Given the description of an element on the screen output the (x, y) to click on. 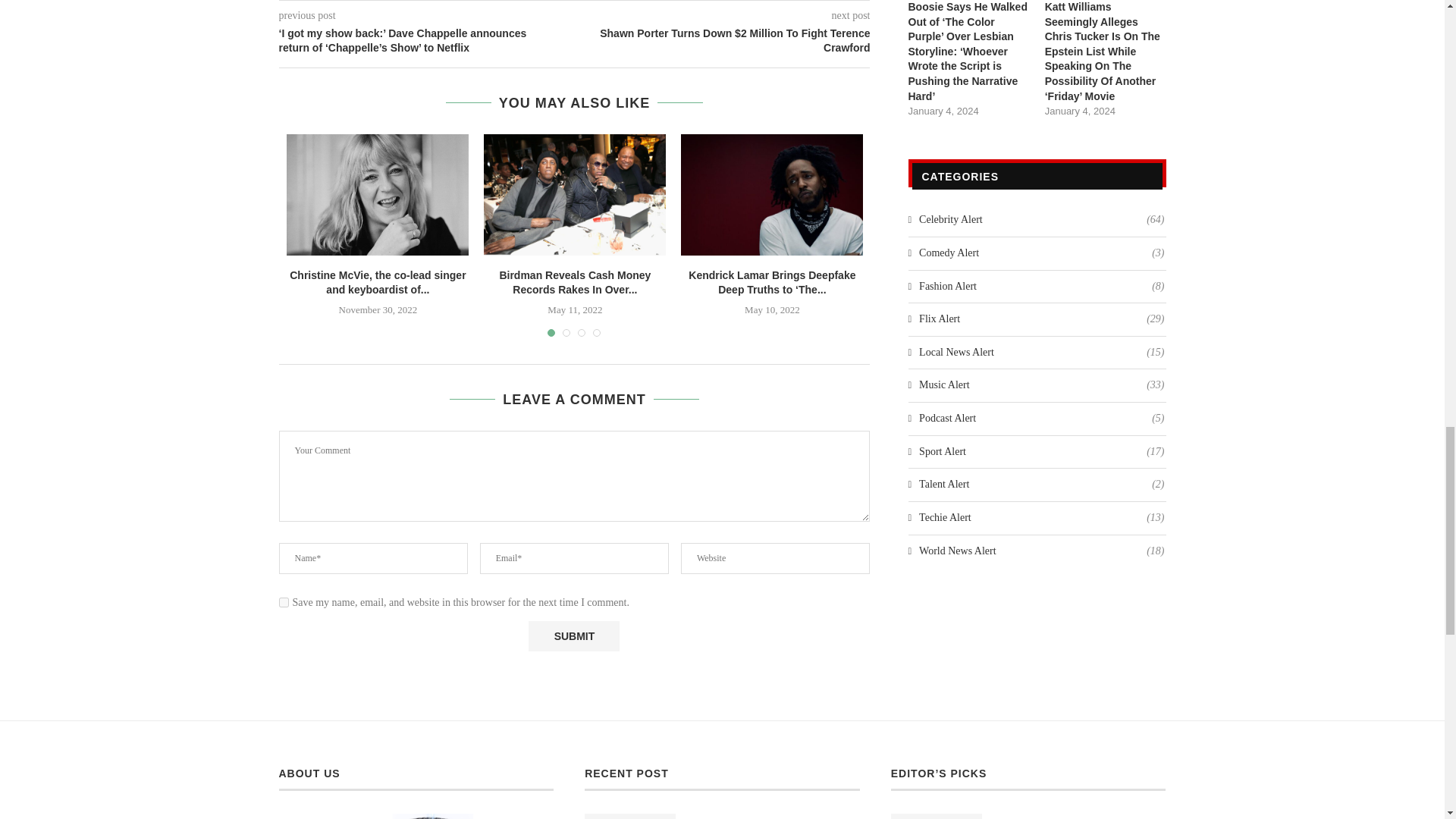
yes (283, 602)
Submit (574, 635)
